Given the description of an element on the screen output the (x, y) to click on. 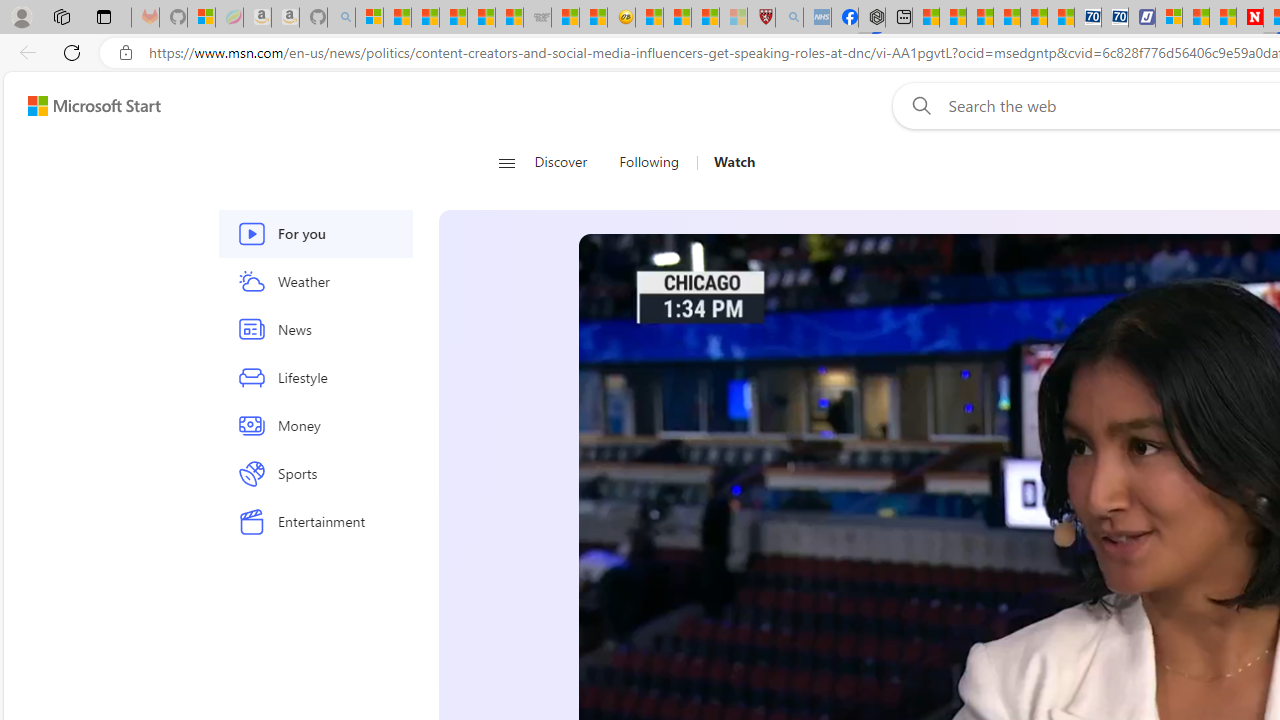
Stocks - MSN (509, 17)
12 Popular Science Lies that Must be Corrected - Sleeping (733, 17)
New Report Confirms 2023 Was Record Hot | Watch (481, 17)
Web search (917, 105)
